Given the description of an element on the screen output the (x, y) to click on. 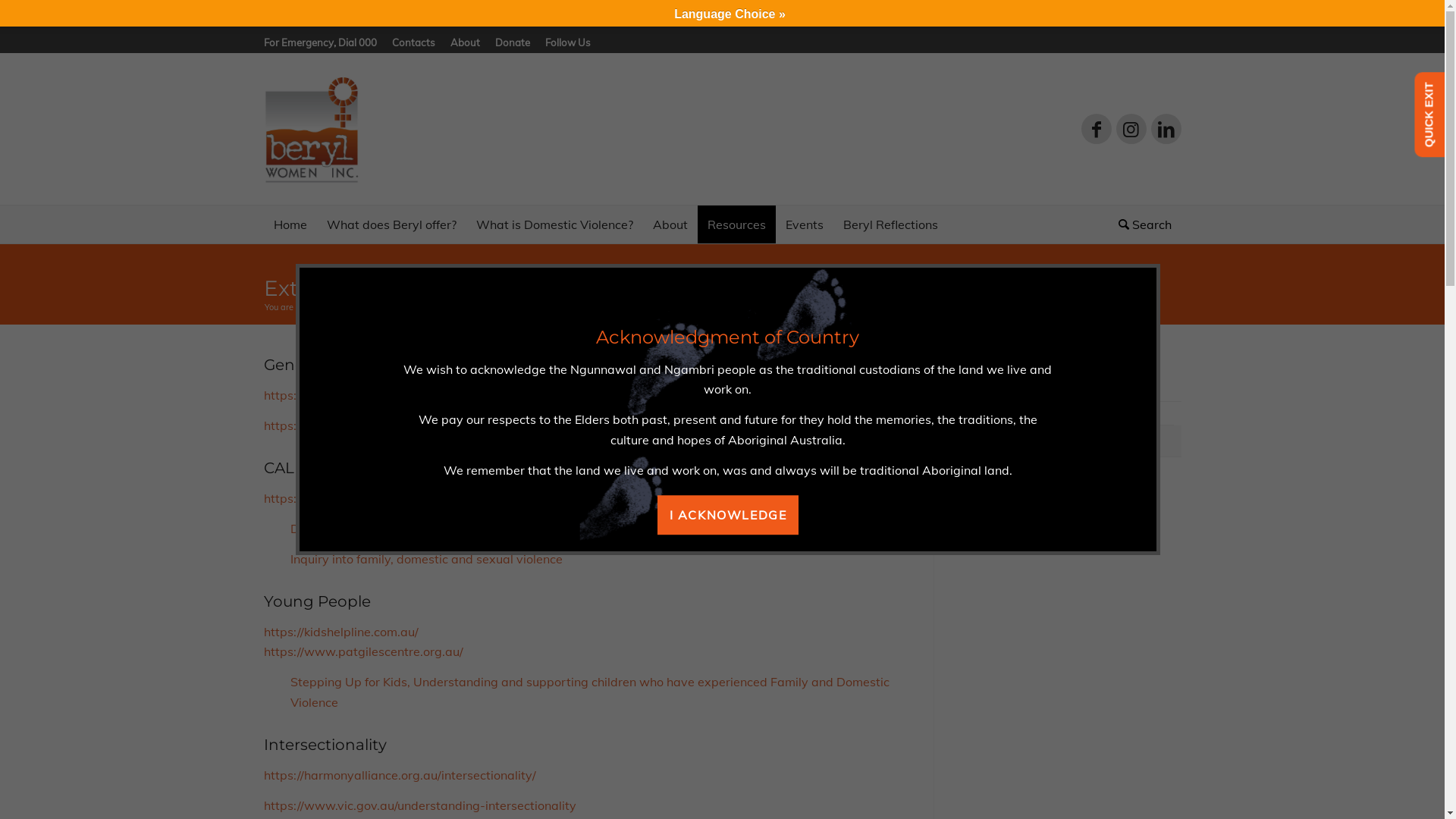
Annual Reports Element type: text (1051, 408)
https://harmonyalliance.org.au/intersectionality/ Element type: text (399, 774)
https://www.patgilescentre.org.au/ Element type: text (363, 650)
Beryl Resources Element type: text (1024, 385)
https://www.anrows.org.au/safer-pathways-for-cald-women/ Element type: text (439, 497)
Follow Us Element type: text (566, 42)
Resources Element type: text (371, 307)
Home Element type: text (289, 224)
Events Element type: text (803, 224)
What is Domestic Violence? Element type: text (553, 224)
LinkedIn Element type: hover (1166, 128)
About Element type: text (465, 42)
Instagram Element type: hover (1131, 128)
About Element type: text (670, 224)
Donate Element type: text (511, 42)
https://www.respect.gov.au/resources/ Element type: text (373, 394)
https://kidshelpline.com.au/ Element type: text (340, 631)
External Resources Element type: text (1033, 440)
Facebook Element type: hover (1096, 128)
For Emergency, Dial 000 Element type: text (319, 42)
I ACKNOWLEDGE Element type: text (728, 514)
Home Element type: text (330, 307)
Inquiry into family, domestic and sexual violence Element type: text (412, 558)
External Resources Element type: text (365, 287)
https://www.vic.gov.au/understanding-intersectionality Element type: text (419, 804)
logo-beryl Element type: hover (311, 130)
Resources Element type: text (736, 224)
What does Beryl offer? Element type: text (391, 224)
https://www.ourwatch.org.au/ Element type: text (349, 425)
Beryl Reflections Element type: text (889, 224)
Contacts Element type: text (412, 42)
